Given the description of an element on the screen output the (x, y) to click on. 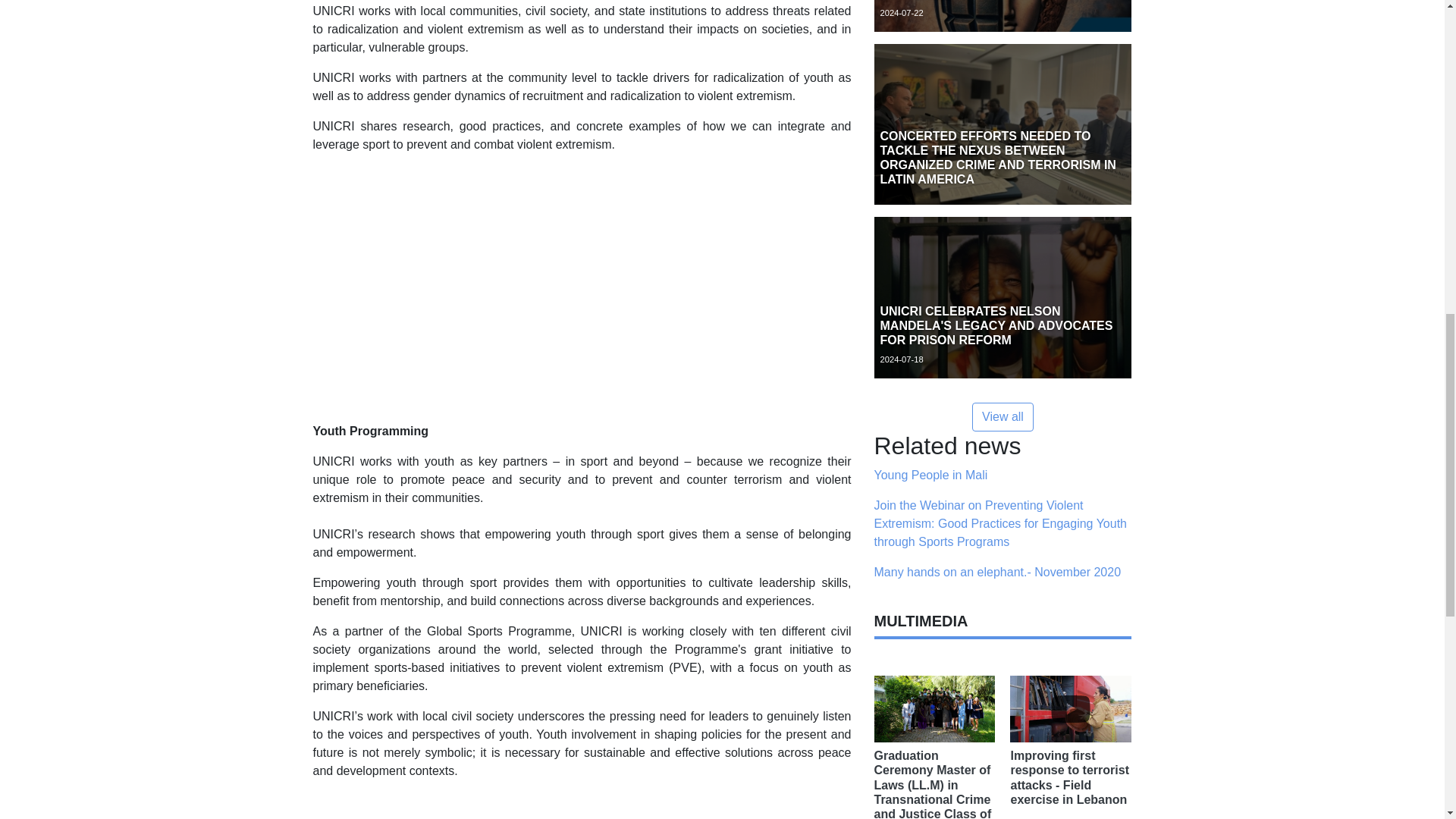
YouTube video player (524, 805)
YouTube video player (524, 285)
